Given the description of an element on the screen output the (x, y) to click on. 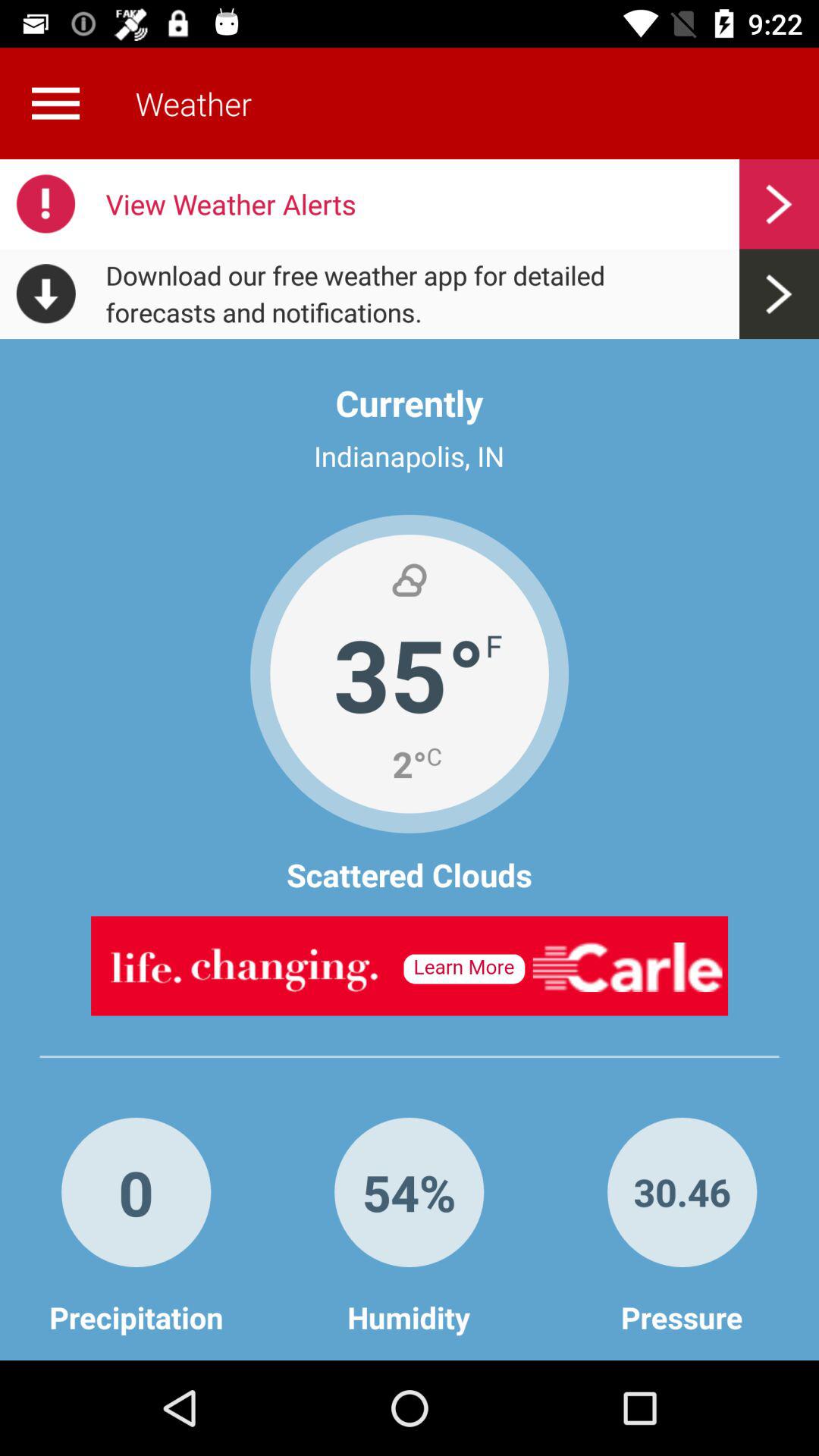
advertisement link (409, 965)
